Given the description of an element on the screen output the (x, y) to click on. 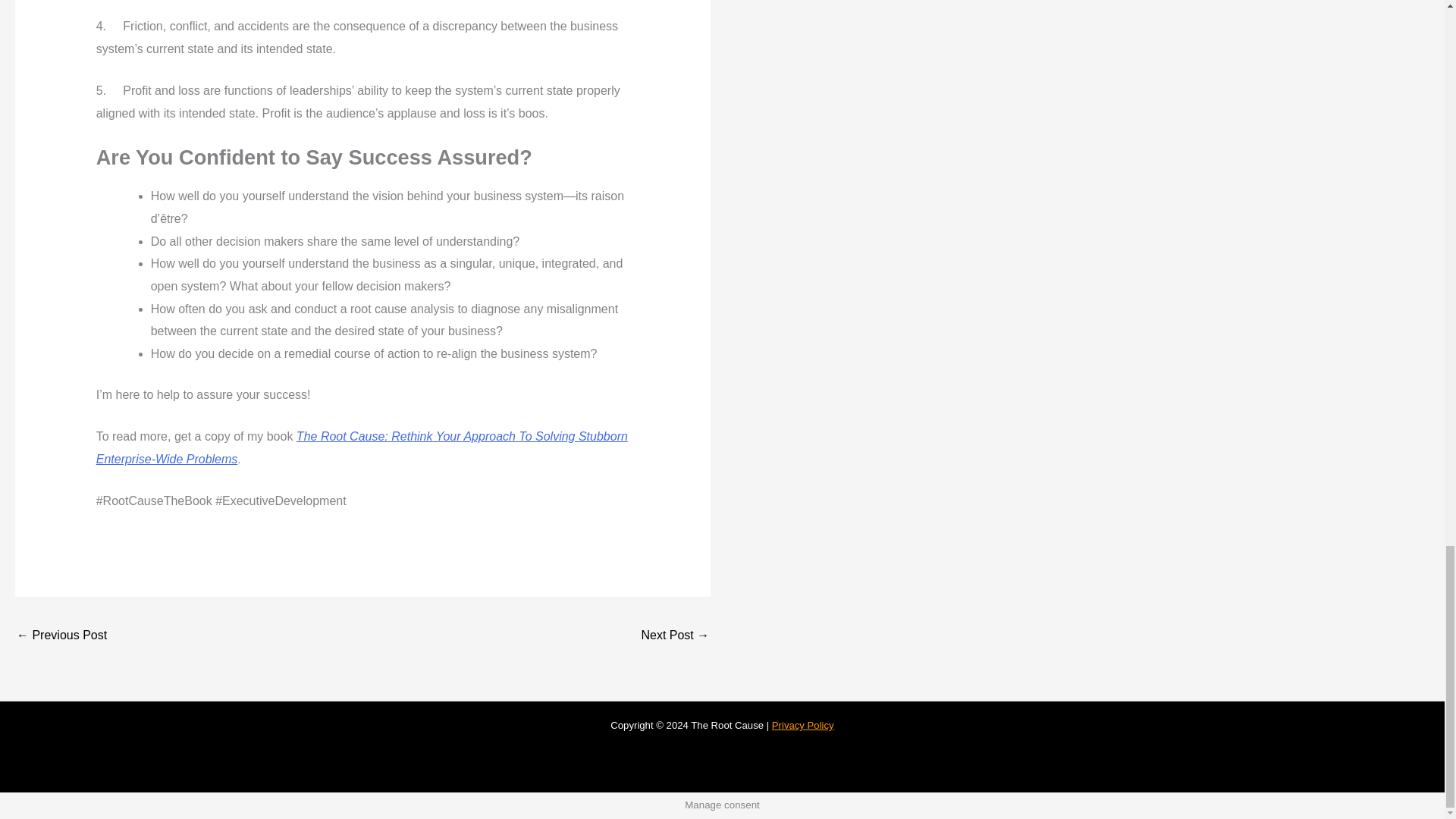
Privacy Policy (802, 725)
Why oh Why . . . . . ? (674, 636)
